Given the description of an element on the screen output the (x, y) to click on. 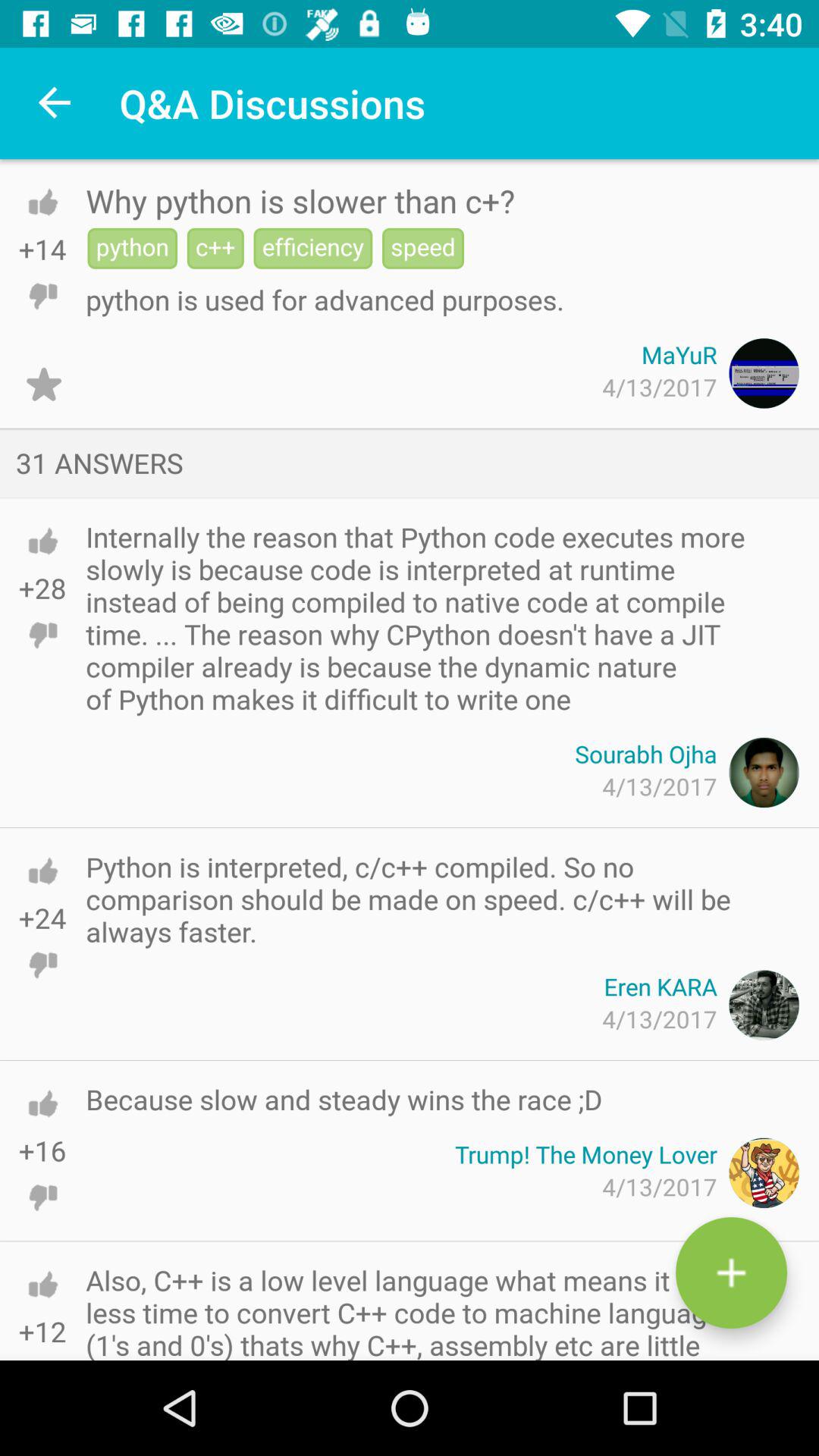
downvote post (42, 296)
